Given the description of an element on the screen output the (x, y) to click on. 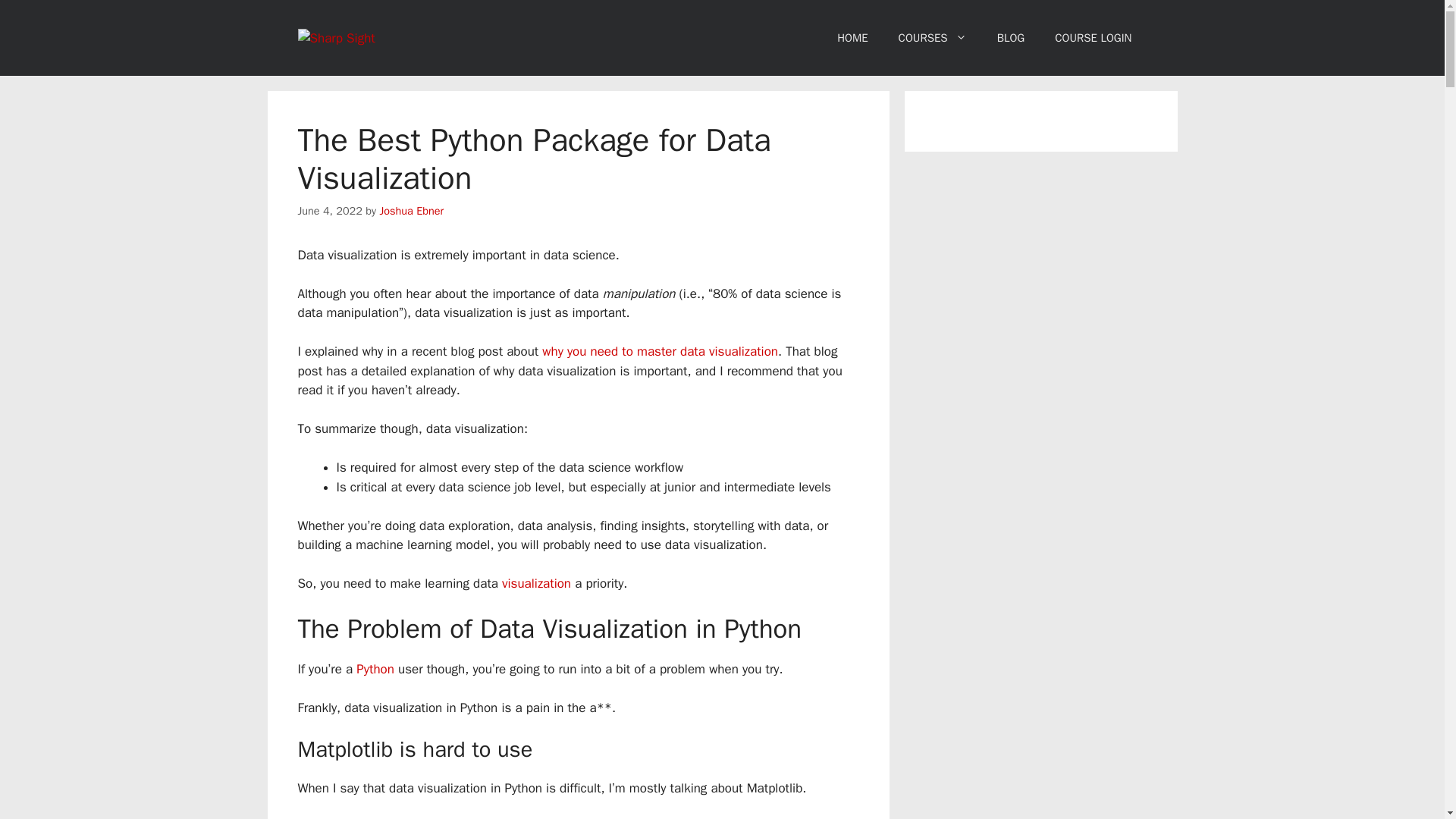
visualization (536, 583)
Python (375, 668)
View all posts by Joshua Ebner (411, 210)
COURSES (932, 37)
COURSE LOGIN (1093, 37)
why you need to master data visualization (659, 351)
HOME (852, 37)
Joshua Ebner (411, 210)
BLOG (1011, 37)
